Given the description of an element on the screen output the (x, y) to click on. 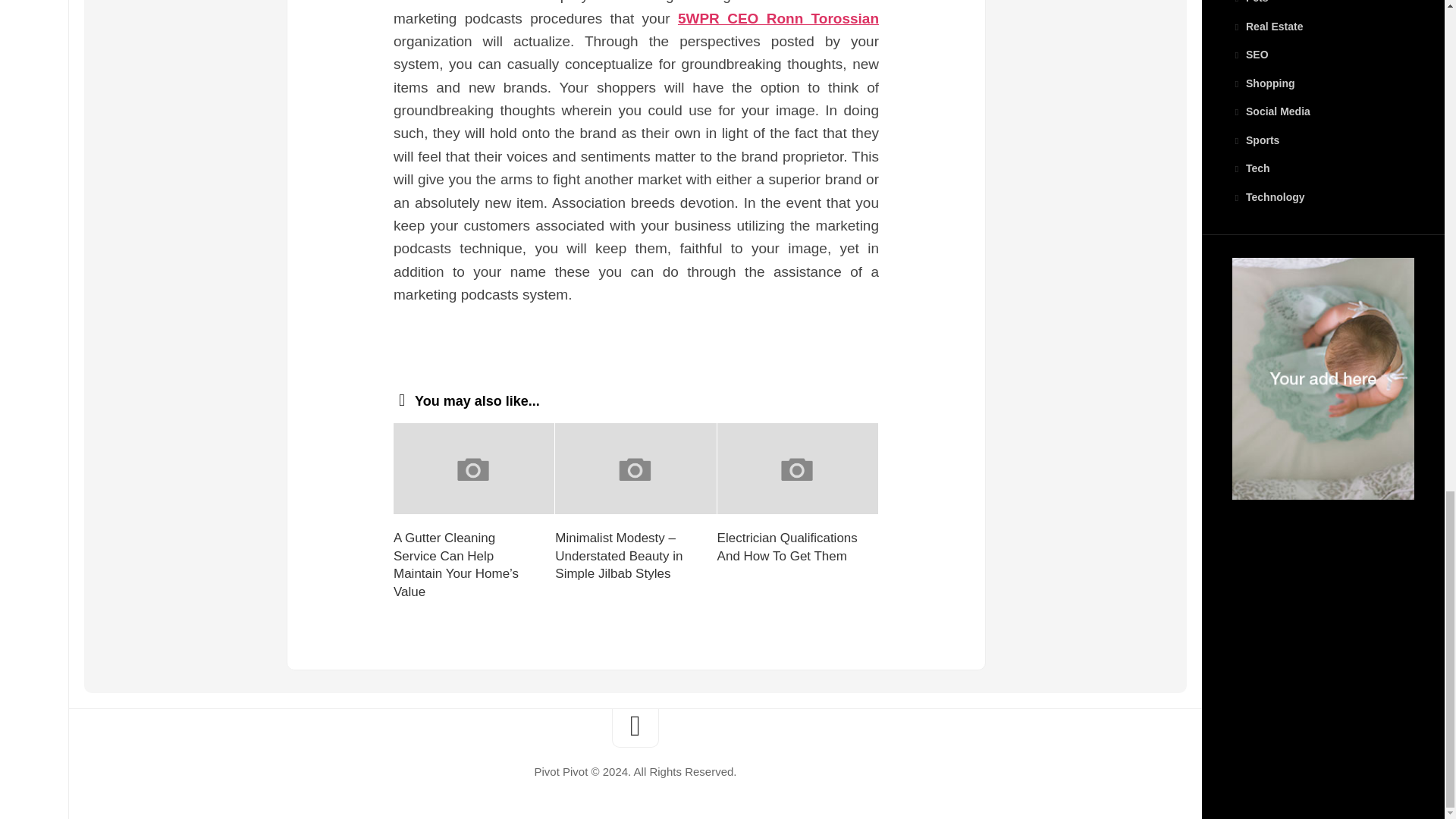
Shopping (1263, 82)
5WPR CEO Ronn Torossian (778, 18)
SEO (1249, 54)
Sports (1255, 140)
Tech (1250, 168)
Social Media (1270, 111)
Technology (1267, 196)
Real Estate (1267, 26)
Pets (1249, 2)
